Given the description of an element on the screen output the (x, y) to click on. 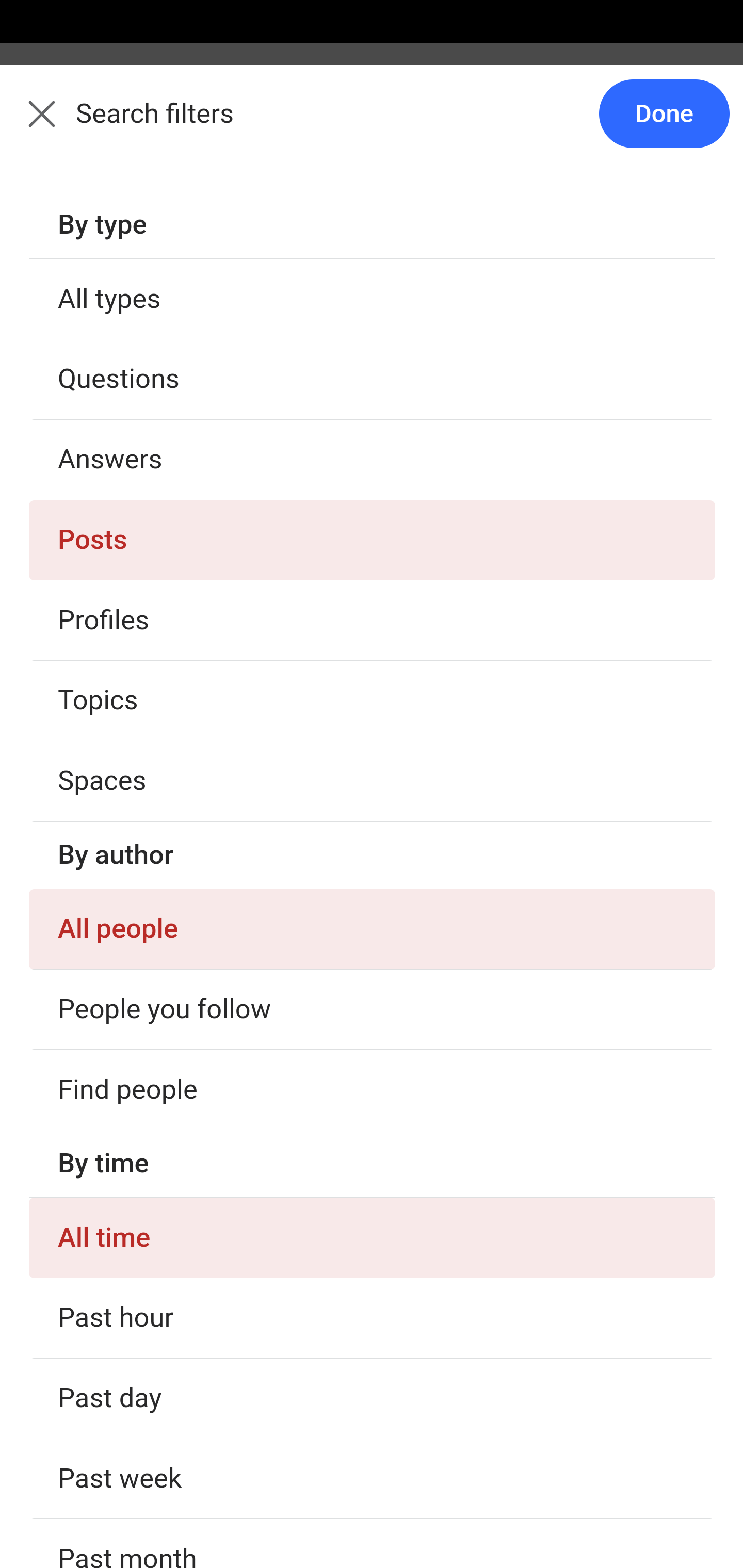
Back Search (371, 125)
Upvote (133, 544)
